Given the description of an element on the screen output the (x, y) to click on. 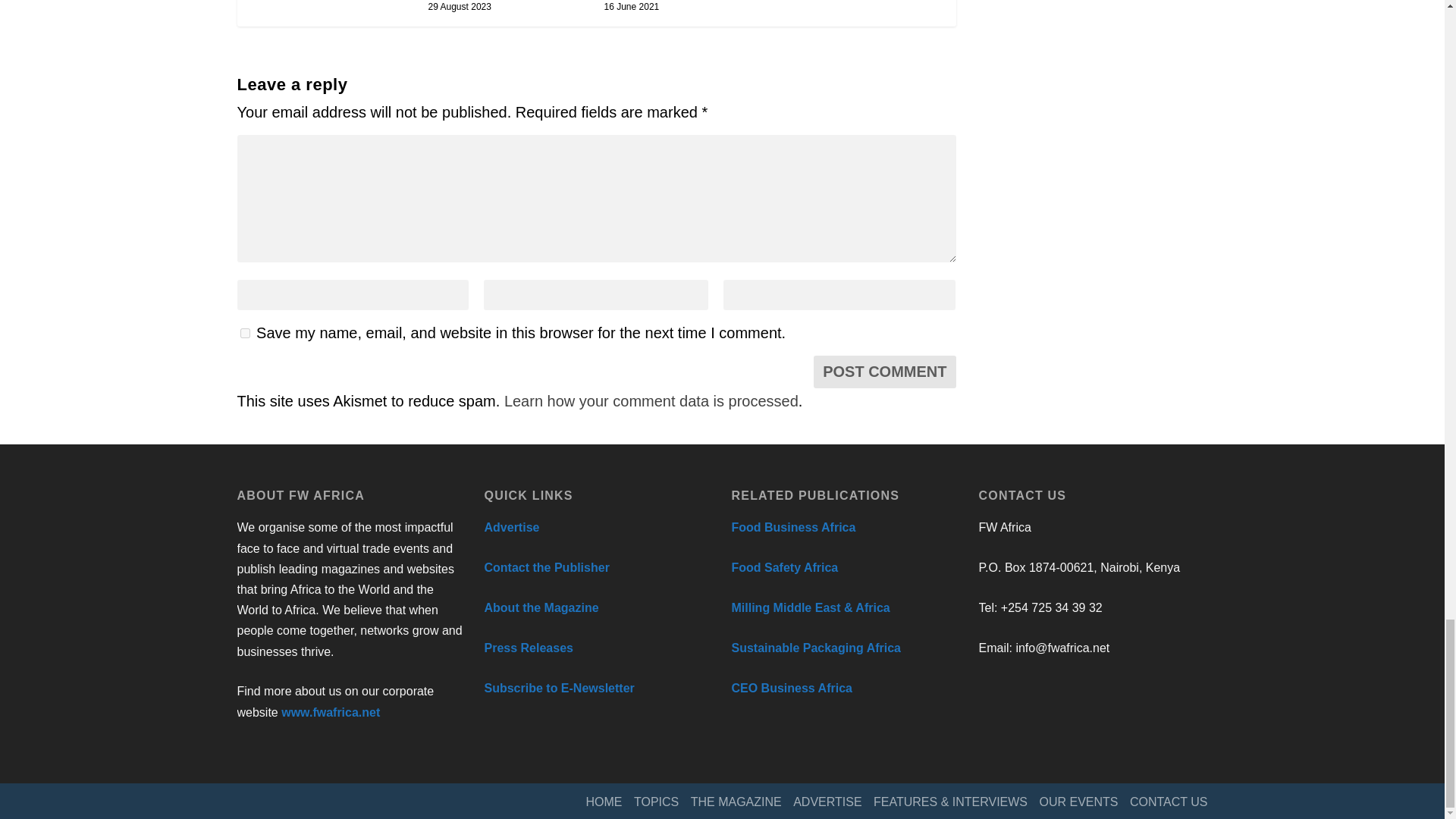
Post Comment (884, 371)
yes (244, 333)
